Given the description of an element on the screen output the (x, y) to click on. 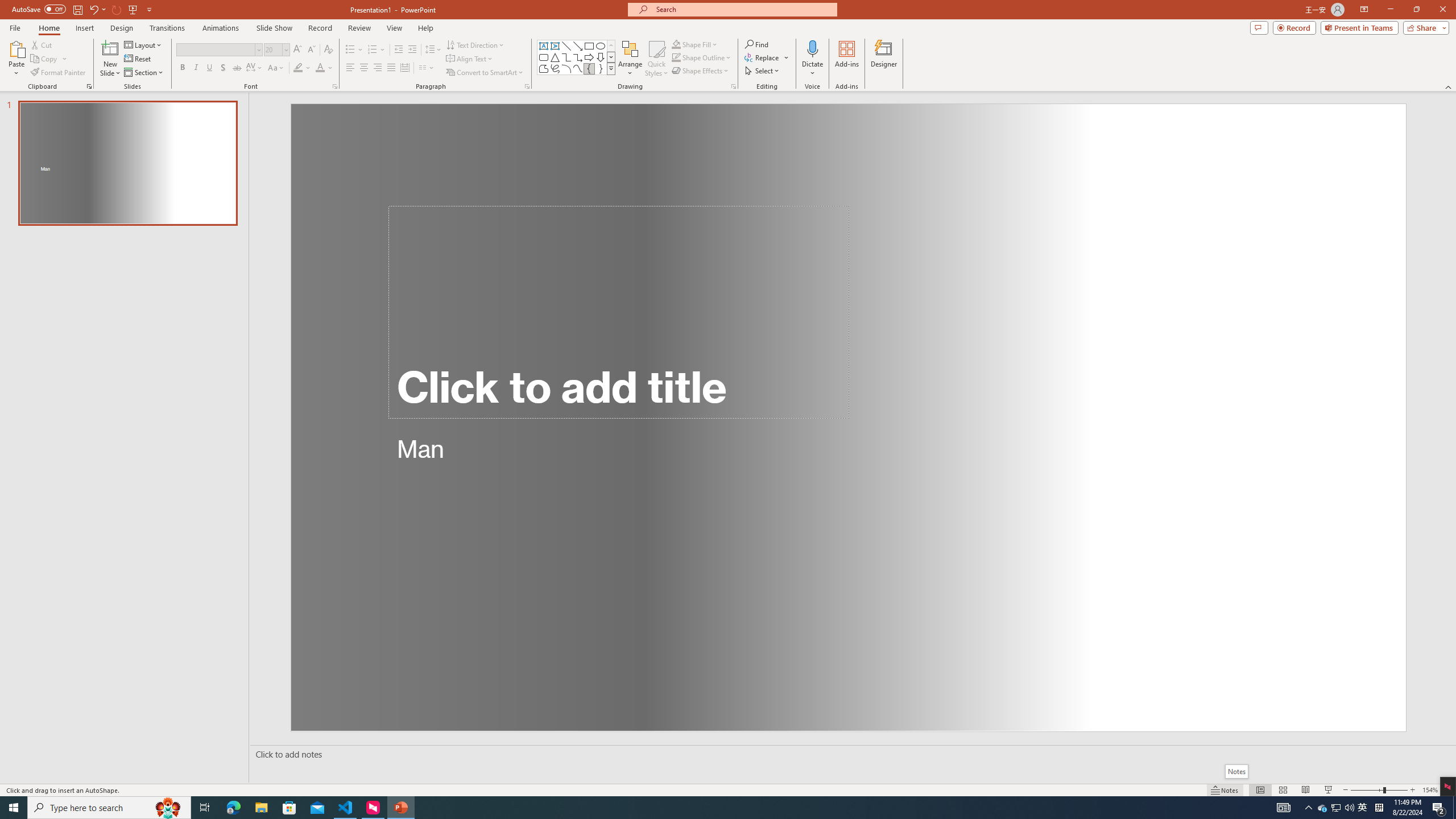
Layout (143, 44)
Freeform: Shape (543, 68)
Font... (334, 85)
Italic (195, 67)
Bold (182, 67)
Rectangle (589, 45)
Font Color (324, 67)
